Given the description of an element on the screen output the (x, y) to click on. 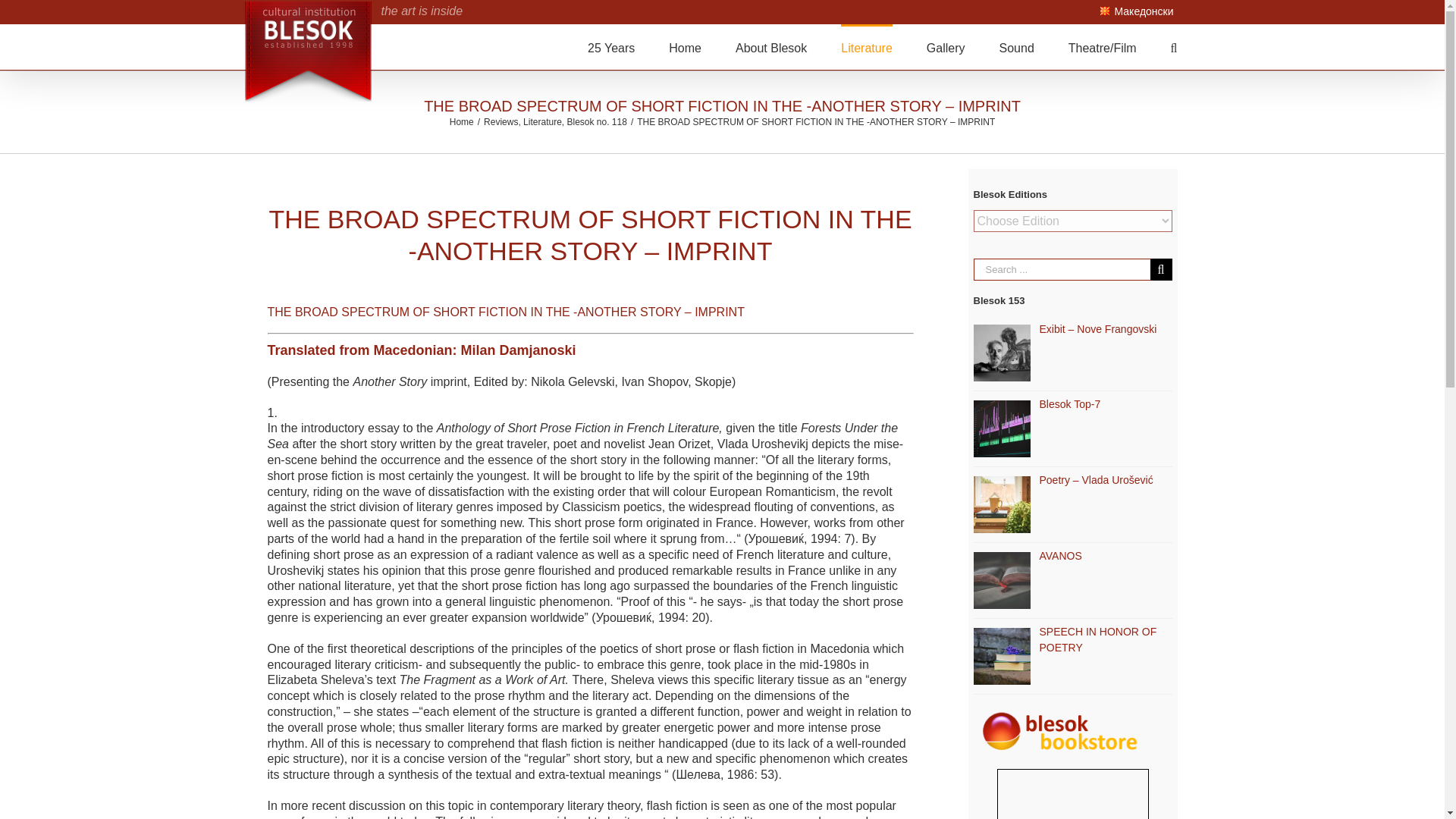
25 Years (611, 46)
About Blesok (770, 46)
Literature (866, 46)
